Given the description of an element on the screen output the (x, y) to click on. 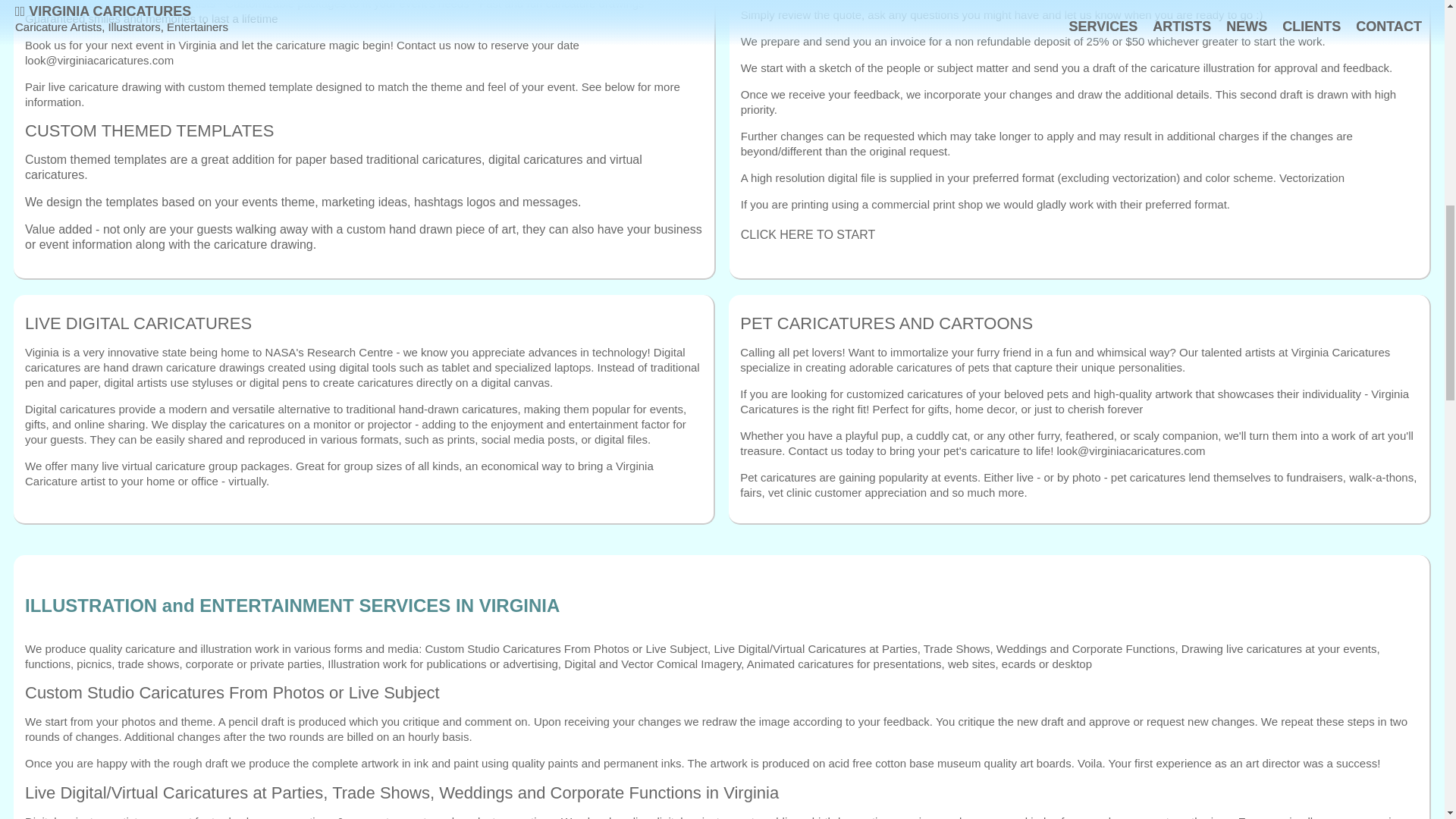
CLICK HERE TO START (808, 234)
ILLUSTRATION and ENTERTAINMENT SERVICES IN VIRGINIA (721, 625)
